Given the description of an element on the screen output the (x, y) to click on. 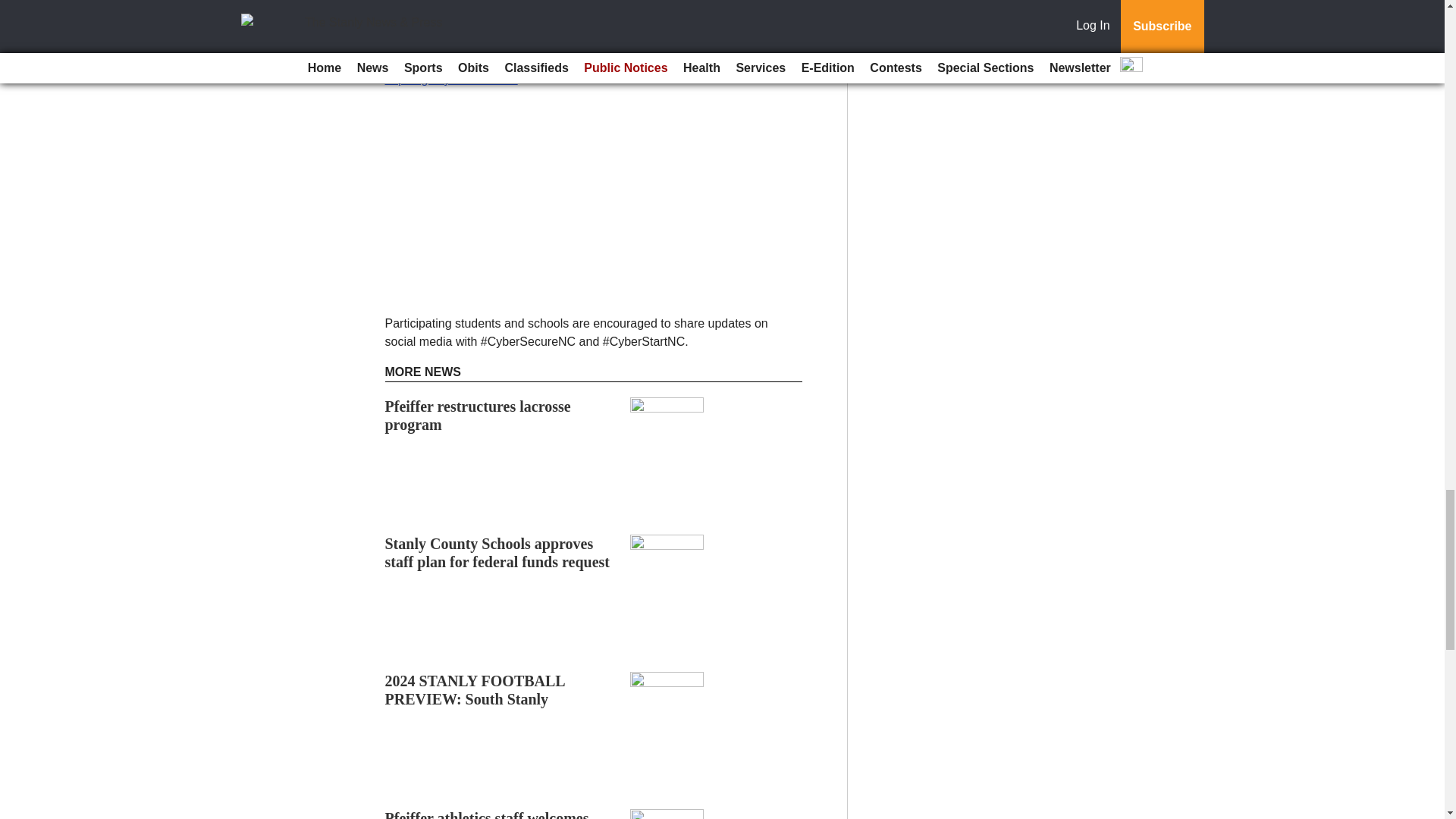
2024 STANLY FOOTBALL PREVIEW: South Stanly (474, 689)
2024 STANLY FOOTBALL PREVIEW: South Stanly (474, 689)
Pfeiffer restructures lacrosse program (477, 415)
Pfeiffer restructures lacrosse program (477, 415)
